Given the description of an element on the screen output the (x, y) to click on. 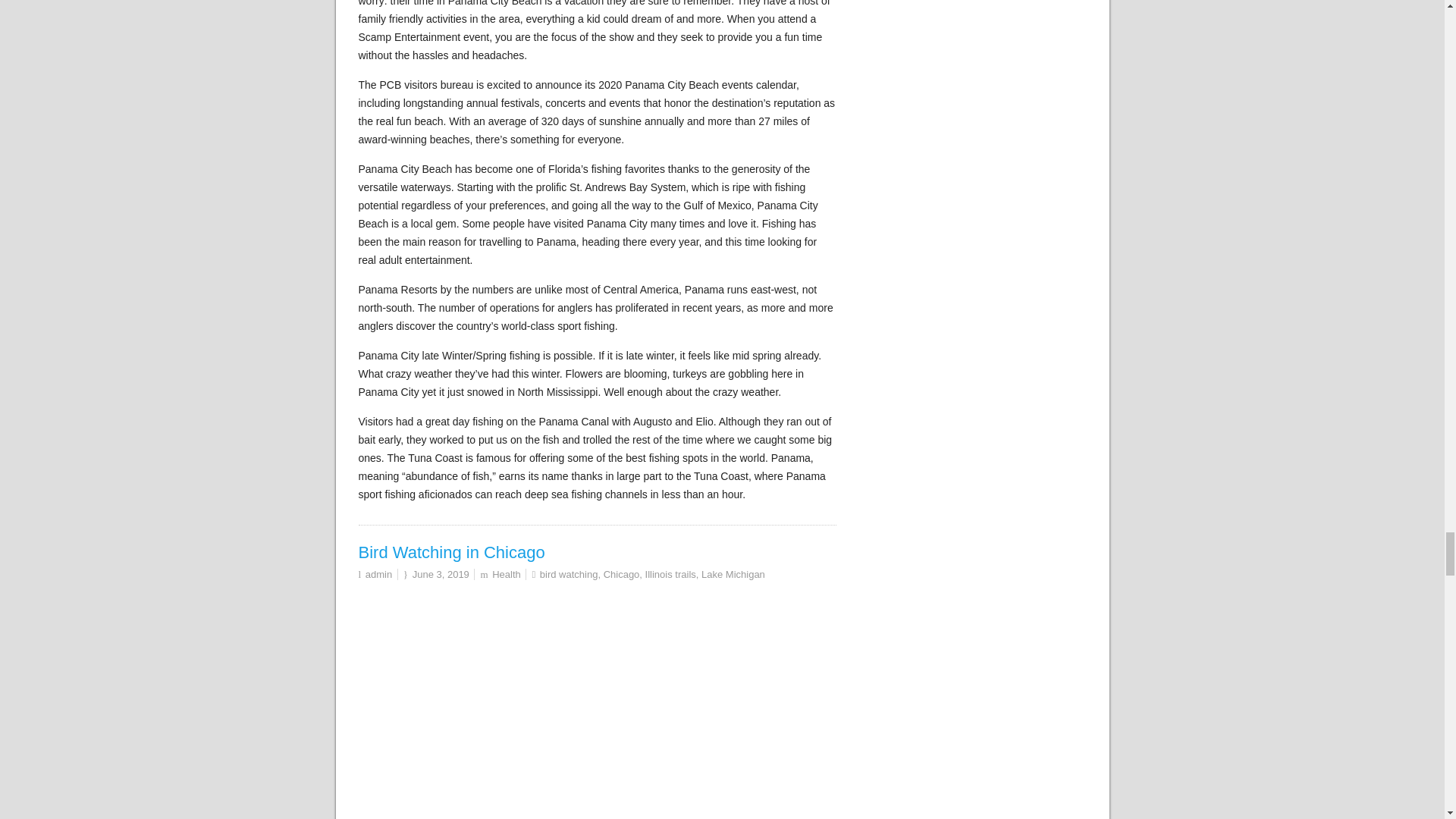
Posts by admin (378, 573)
